Given the description of an element on the screen output the (x, y) to click on. 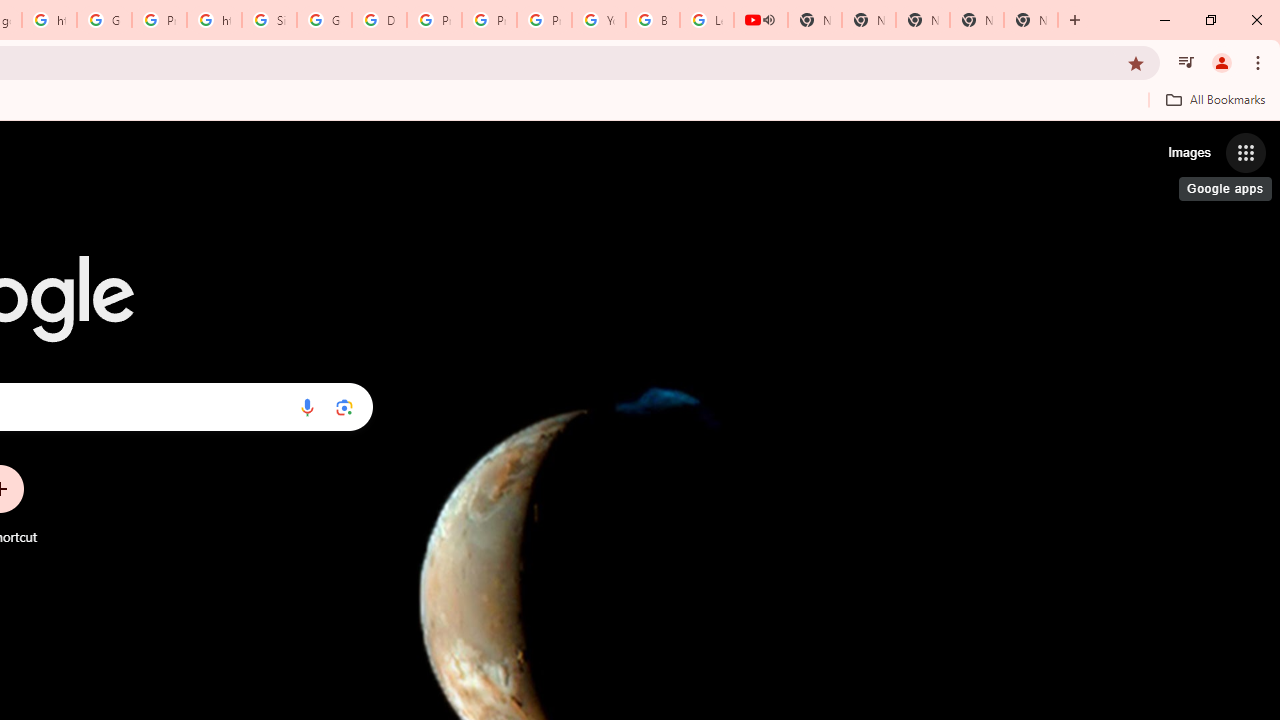
Privacy Help Center - Policies Help (434, 20)
YouTube (598, 20)
Sign in - Google Accounts (268, 20)
